Given the description of an element on the screen output the (x, y) to click on. 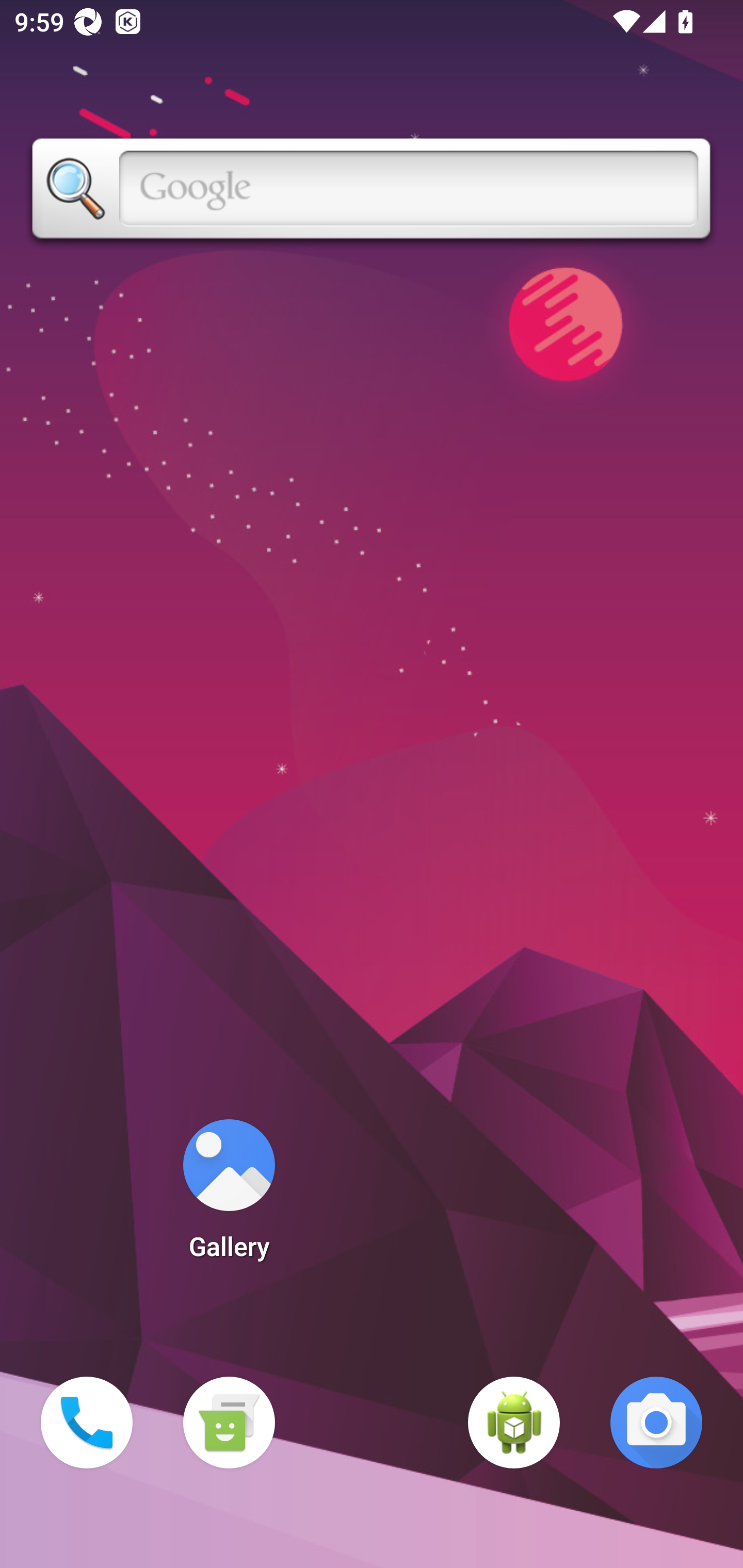
Gallery (228, 1195)
Phone (86, 1422)
Messaging (228, 1422)
WebView Browser Tester (513, 1422)
Camera (656, 1422)
